Given the description of an element on the screen output the (x, y) to click on. 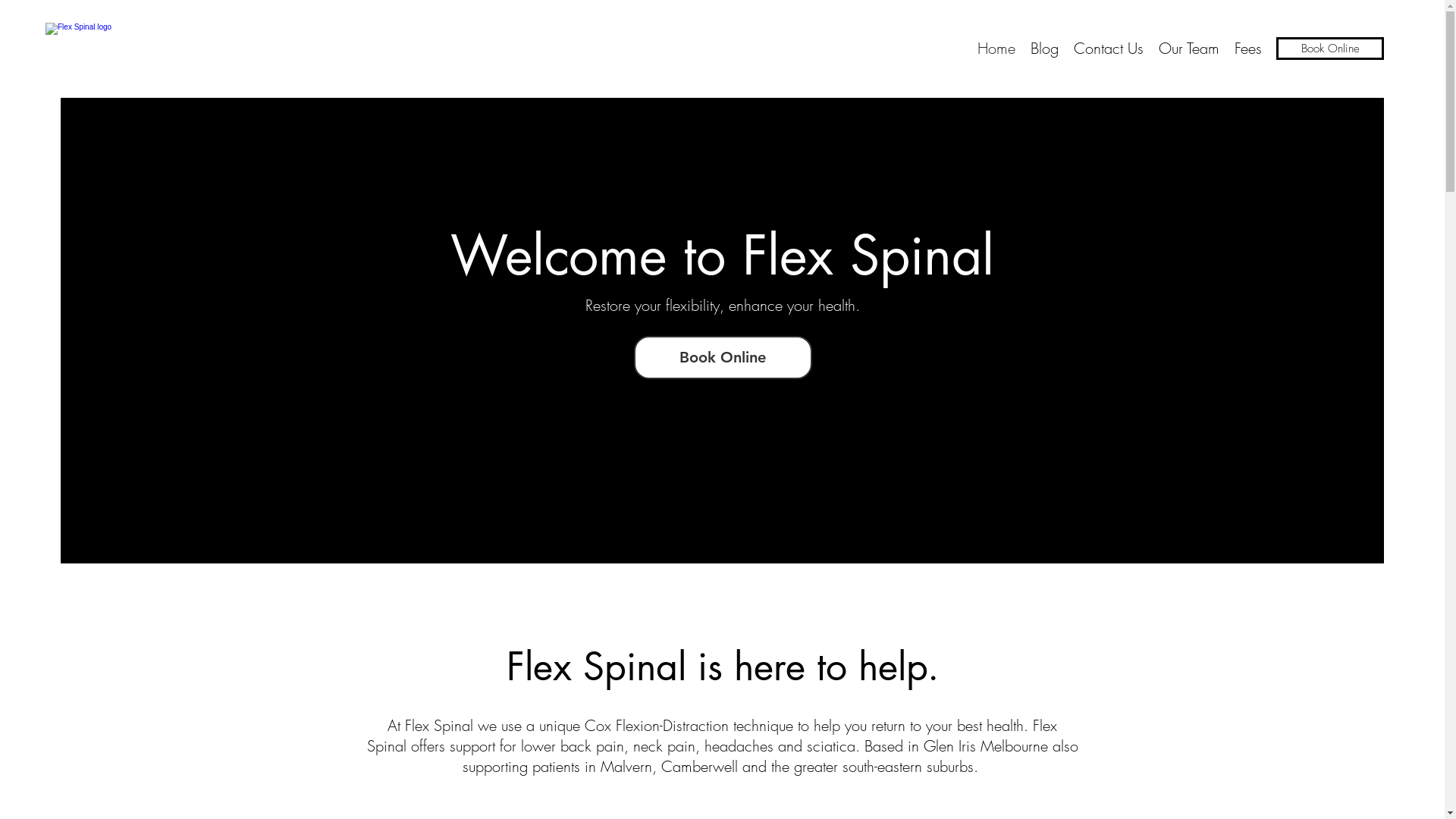
Book Online Element type: text (1329, 48)
Fees Element type: text (1247, 48)
Our Team Element type: text (1188, 48)
Home Element type: text (995, 48)
Book Online Element type: text (722, 357)
Blog Element type: text (1044, 48)
Contact Us Element type: text (1108, 48)
